Given the description of an element on the screen output the (x, y) to click on. 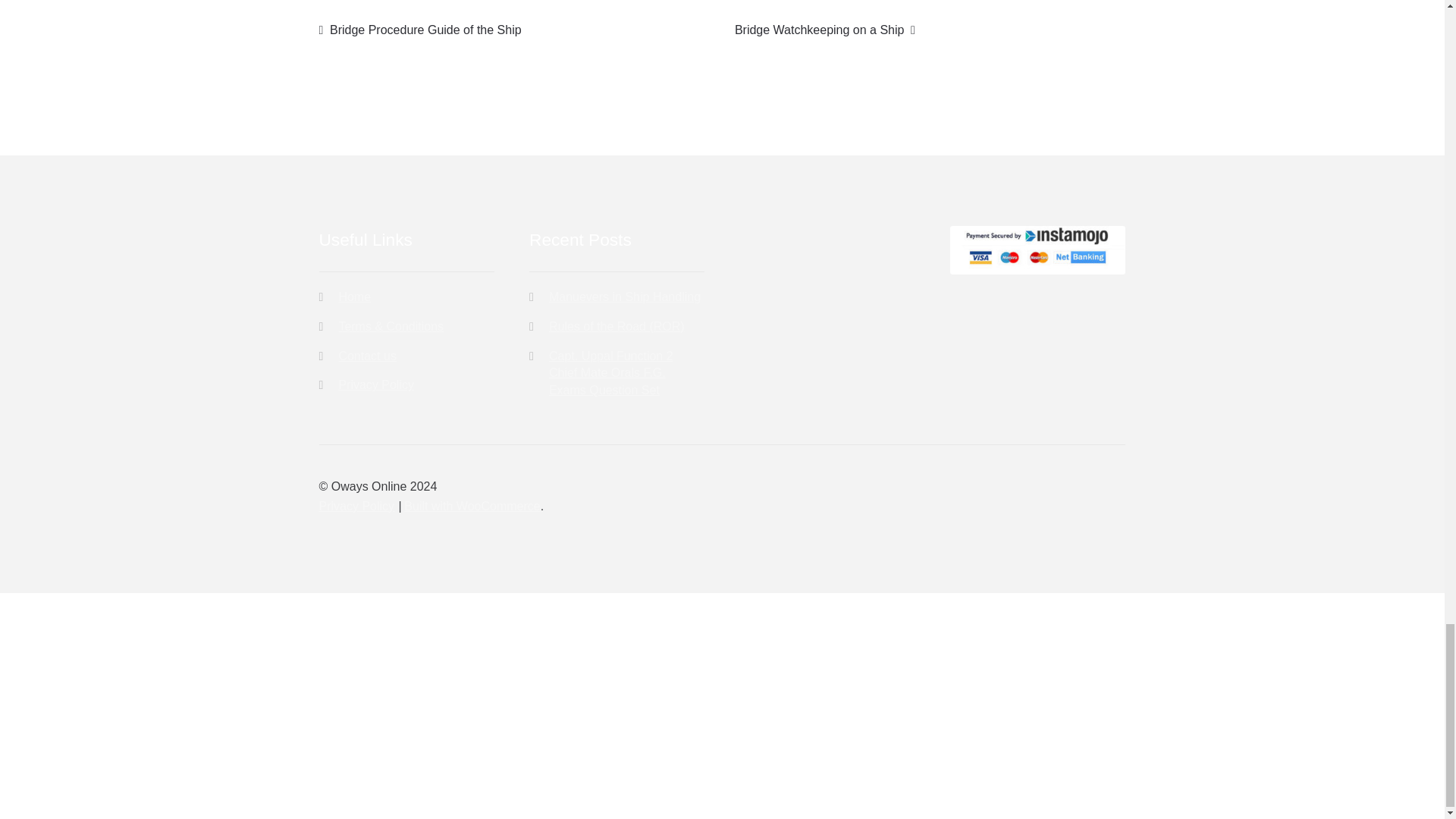
WooCommerce - The Best eCommerce Platform for WordPress (472, 505)
